Given the description of an element on the screen output the (x, y) to click on. 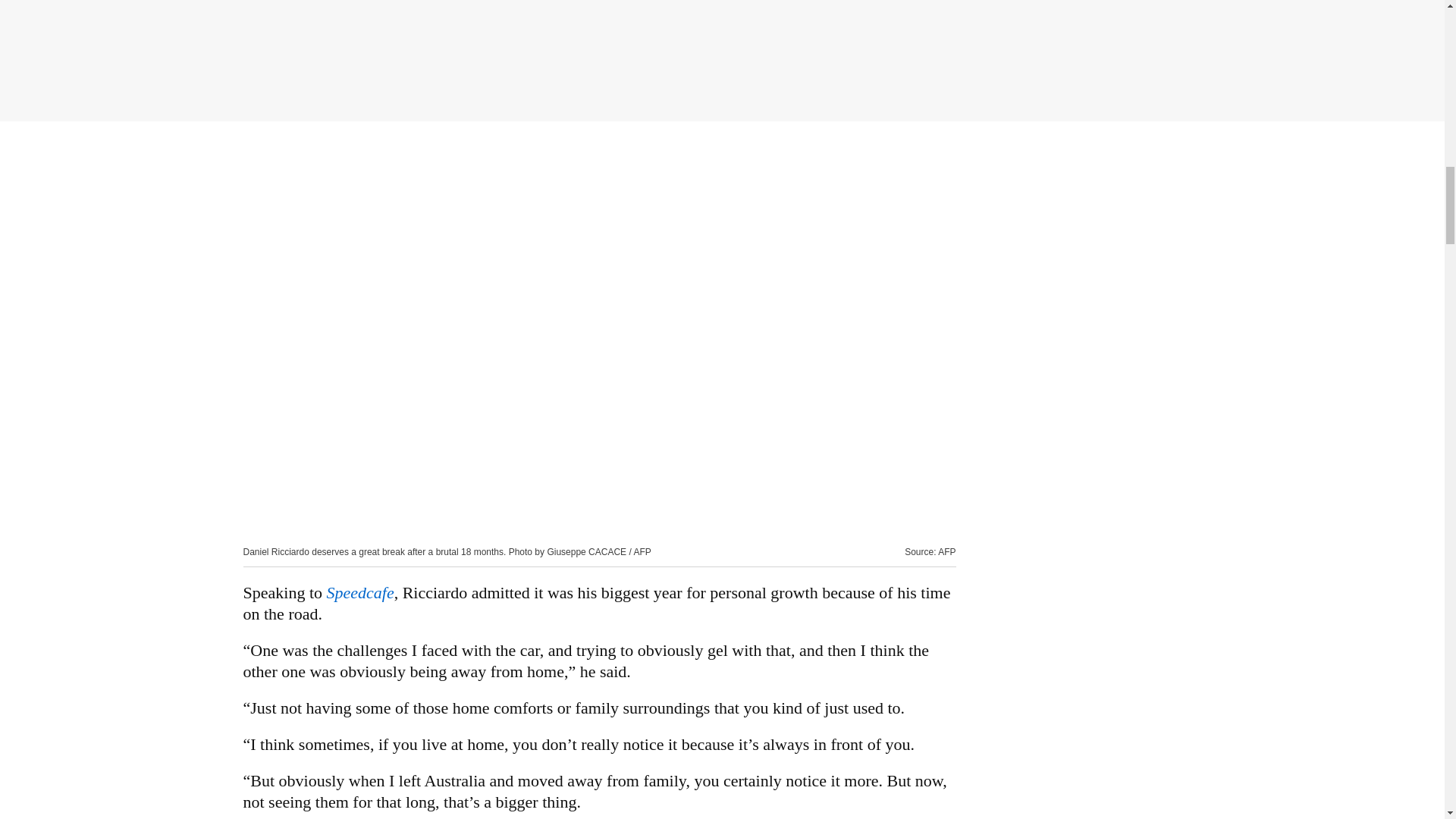
Speedcafe (359, 591)
www.speedcafe.com (359, 591)
